Given the description of an element on the screen output the (x, y) to click on. 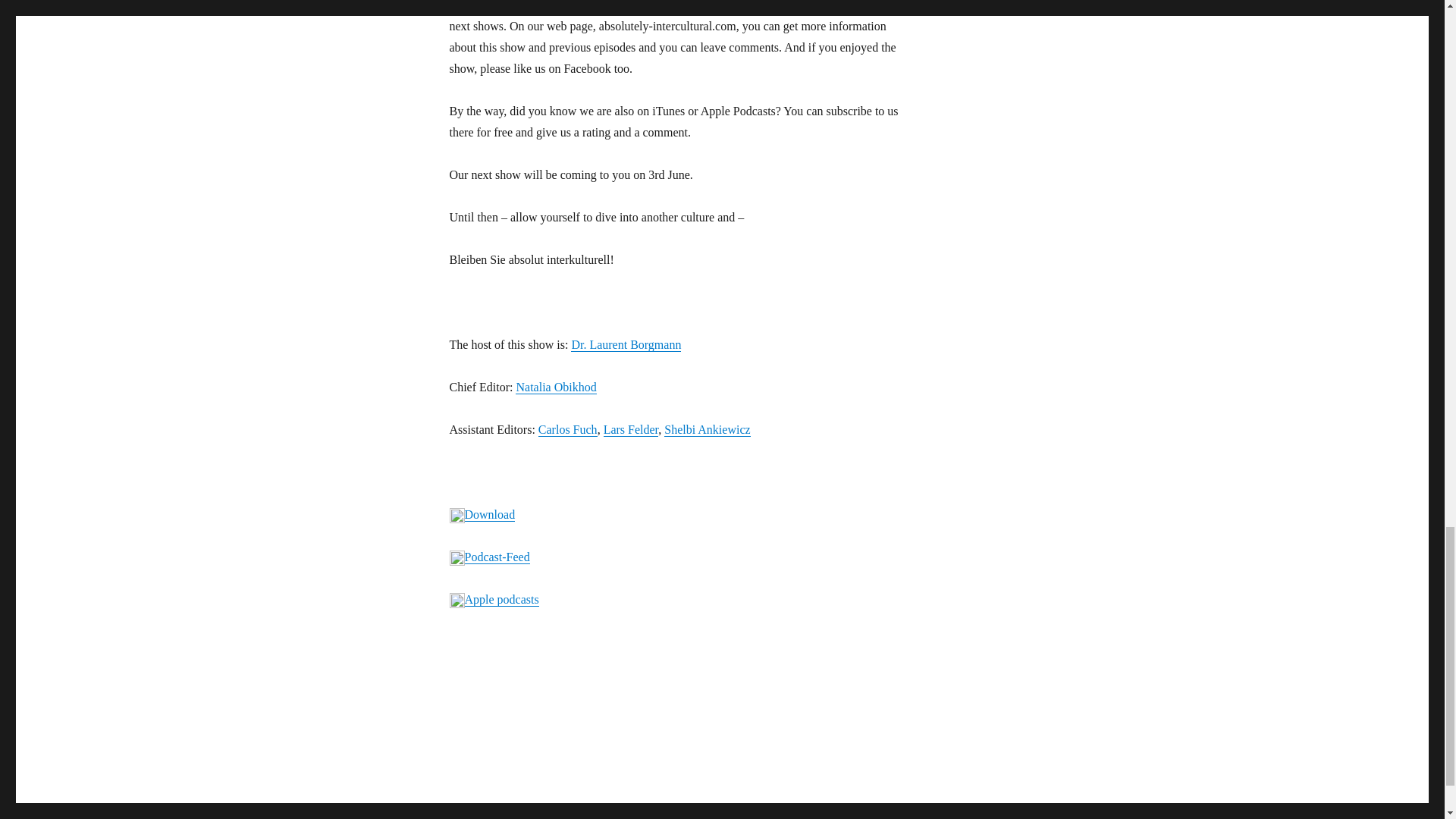
Lars Felder (631, 429)
Apple podcasts (501, 599)
Carlos Fuch (567, 429)
Natalia Obikhod (555, 386)
Download (489, 513)
Shelbi Ankiewicz (706, 429)
Podcast-Feed (496, 556)
Dr. Laurent Borgmann (625, 344)
